Given the description of an element on the screen output the (x, y) to click on. 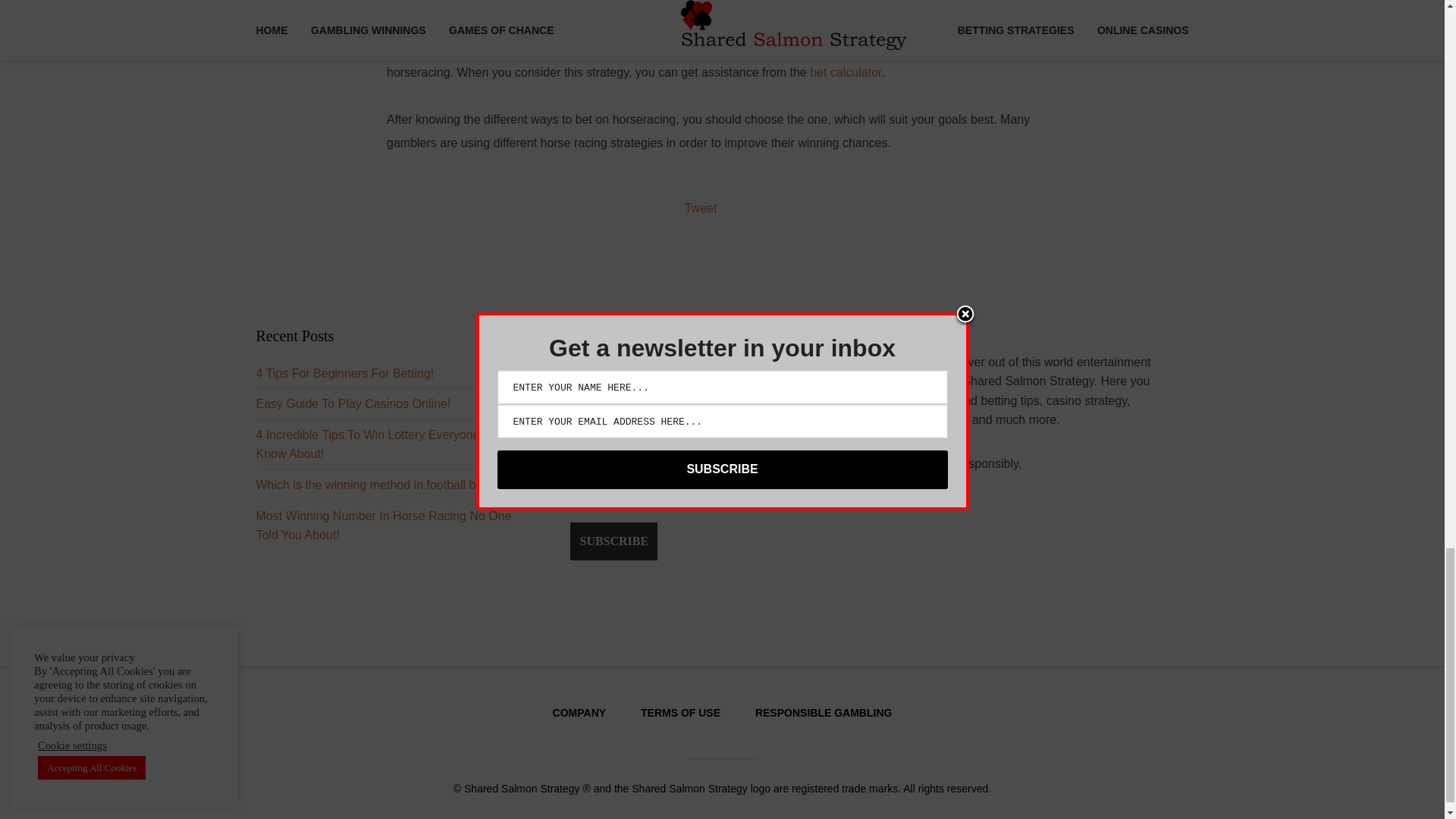
TERMS OF USE (680, 712)
bet calculator (844, 72)
bet calculator (844, 72)
COMPANY (580, 712)
Most Winning Number In Horse Racing No One Told You About! (384, 525)
Easy Guide To Play Casinos Online! (353, 403)
RESPONSIBLE GAMBLING (823, 712)
Which is the winning method in football betting? (384, 484)
4 Tips For Beginners For Betting! (344, 373)
Tweet (700, 207)
Subscribe (614, 541)
4 Incredible Tips To Win Lottery Everyone Should Know About! (388, 444)
